Given the description of an element on the screen output the (x, y) to click on. 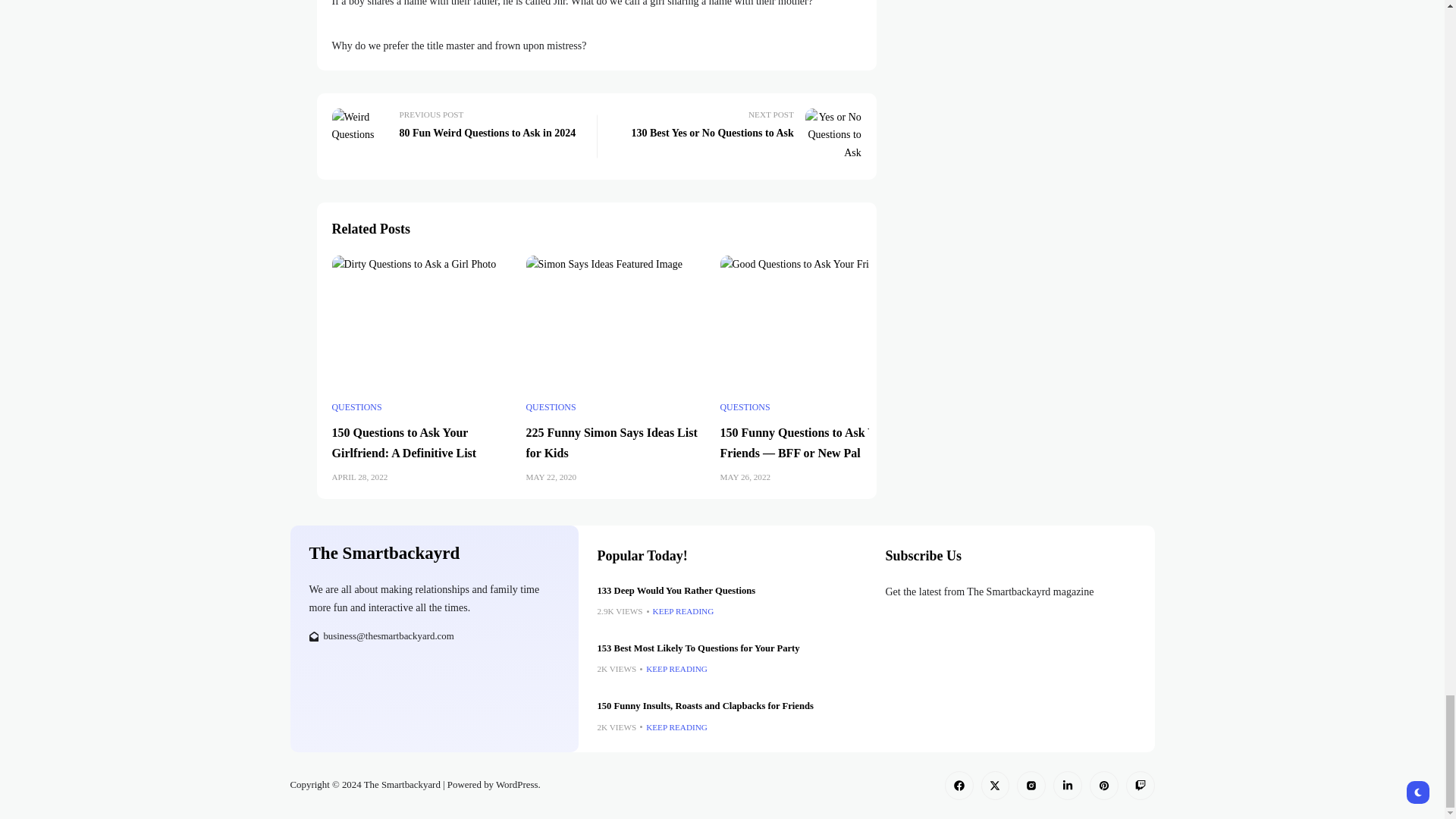
QUESTIONS (356, 407)
150 Questions to Ask Your Girlfriend: A Definitive List (458, 136)
APRIL 28, 2022 (404, 442)
